Given the description of an element on the screen output the (x, y) to click on. 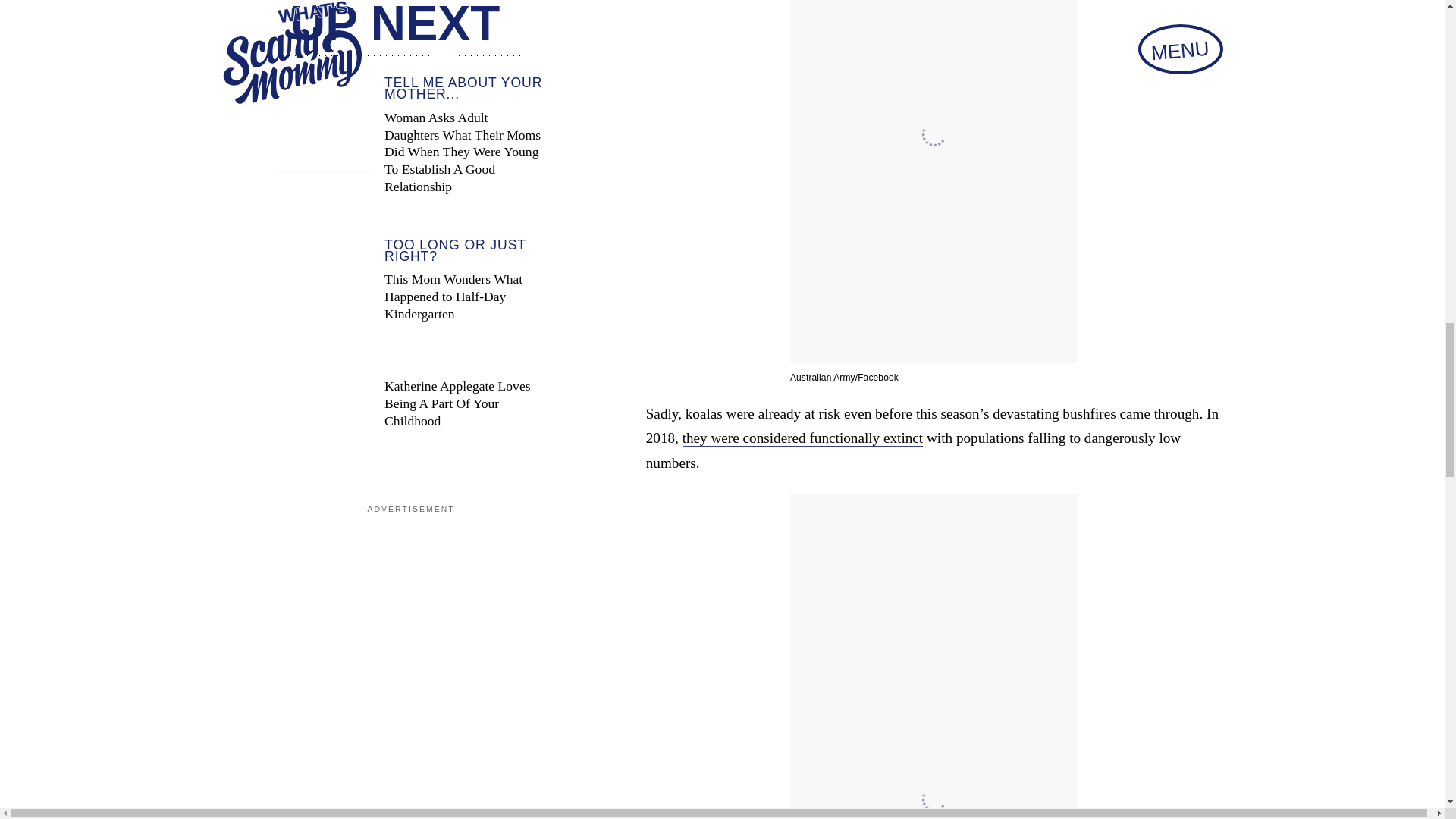
Katherine Applegate Loves Being A Part Of Your Childhood (410, 424)
they were considered functionally extinct (802, 437)
